Given the description of an element on the screen output the (x, y) to click on. 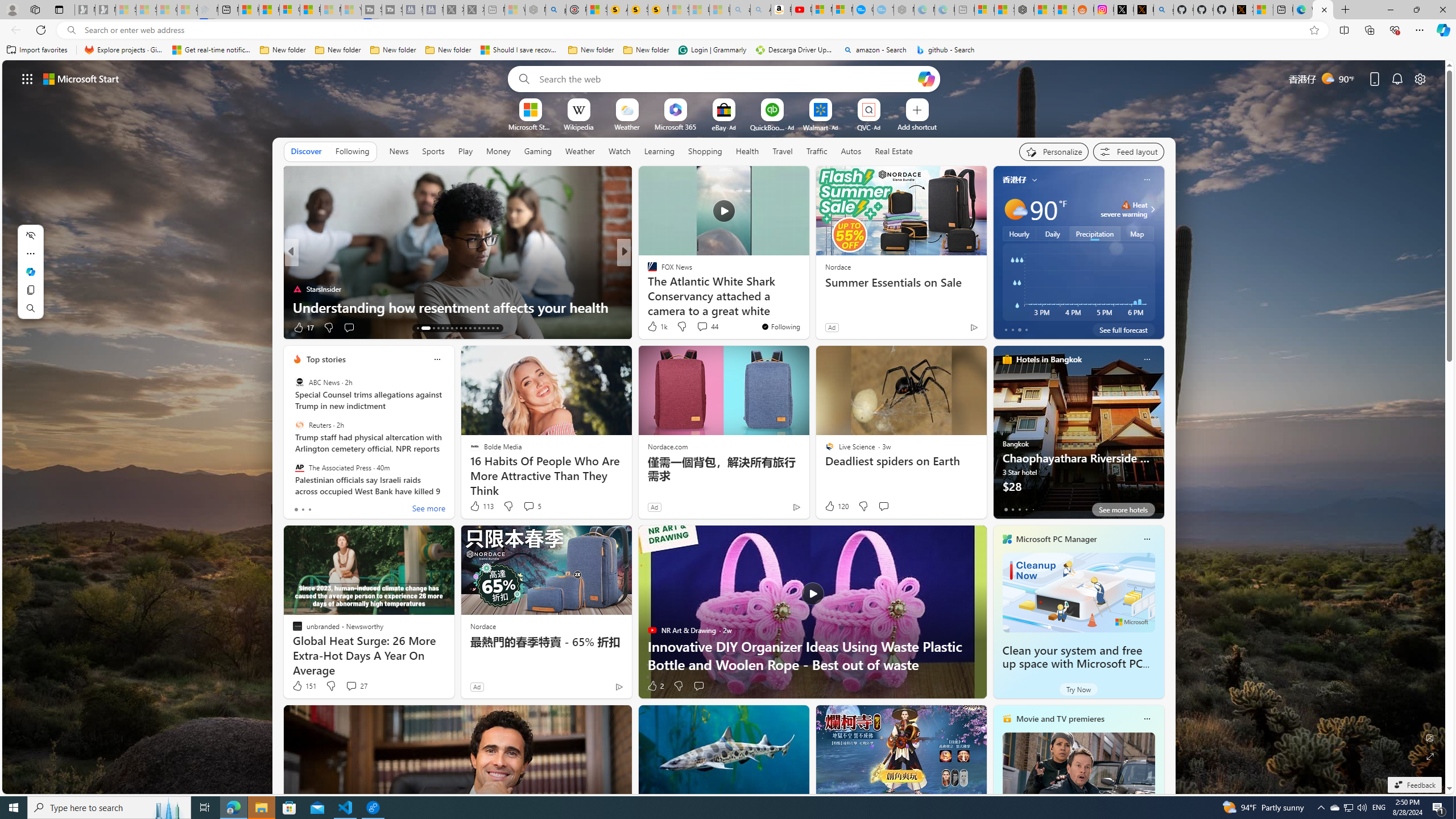
92 Like (652, 327)
Money (498, 151)
Summer Essentials on Sale (900, 282)
INSIDER (647, 270)
AutomationID: tab-21 (460, 328)
Login | Grammarly (712, 49)
The Associated Press (299, 466)
tab-4 (1032, 509)
